Given the description of an element on the screen output the (x, y) to click on. 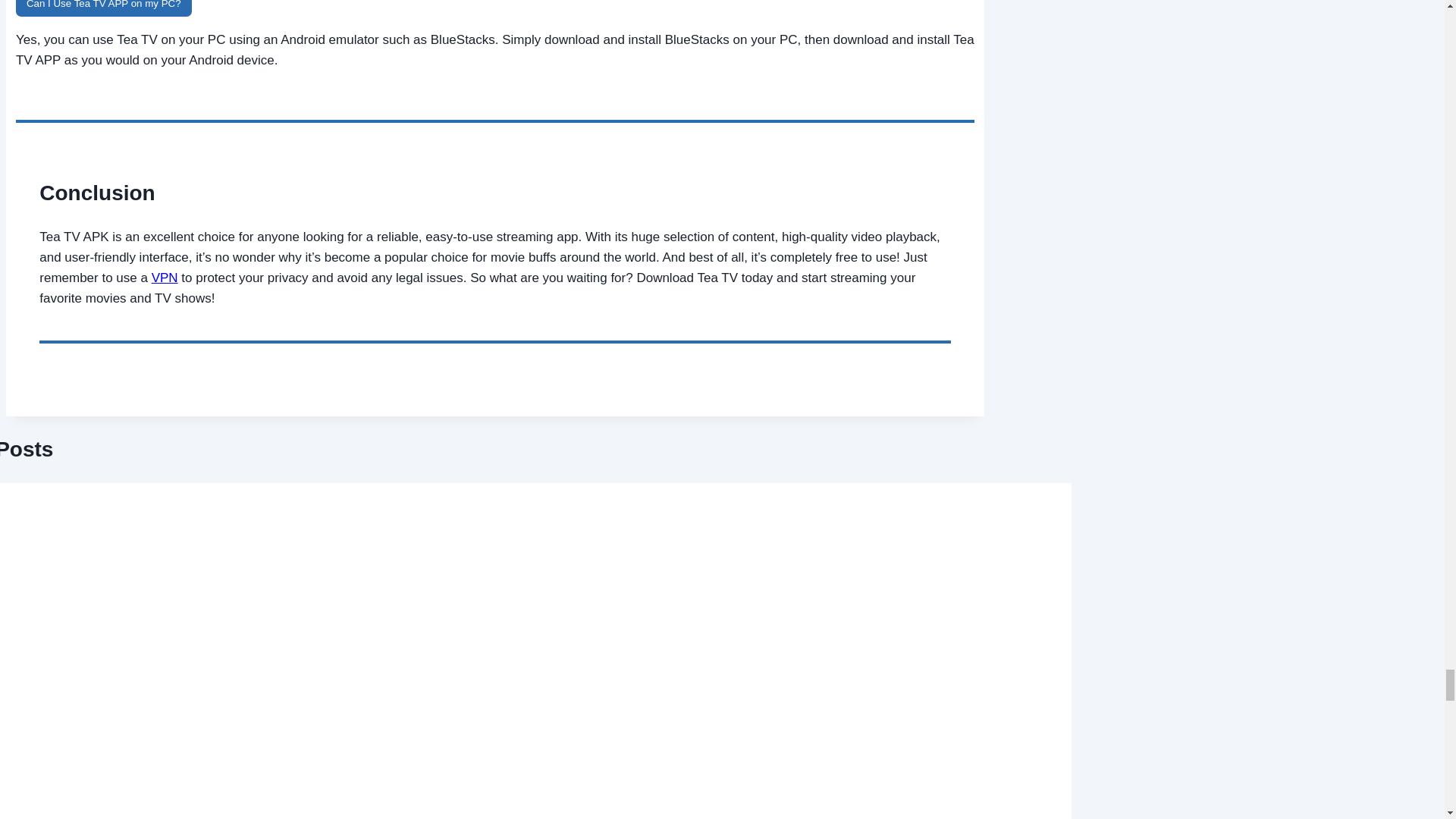
Can I Use Tea TV APP on my PC? (104, 8)
VPN (164, 278)
